Given the description of an element on the screen output the (x, y) to click on. 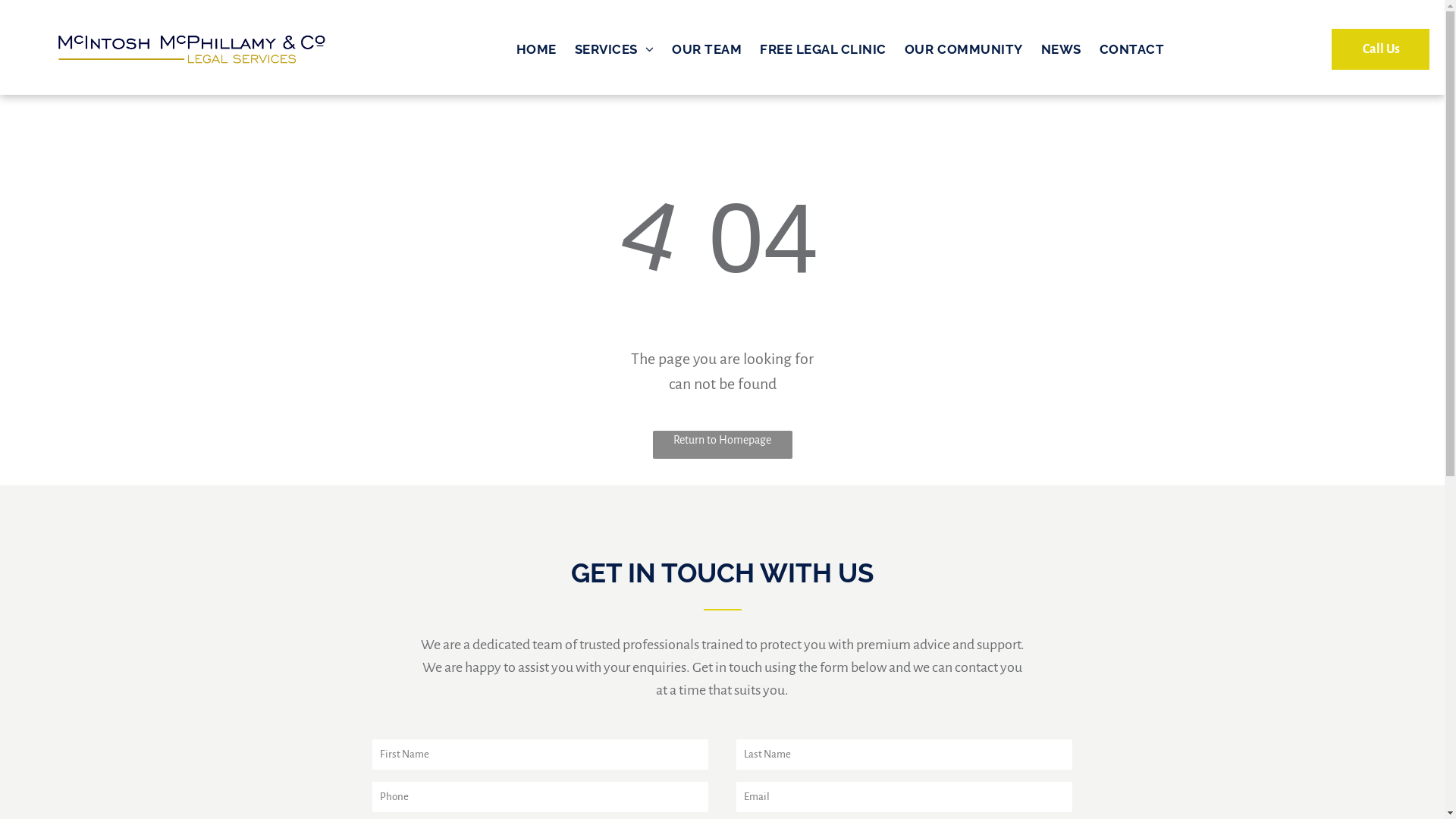
HOME Element type: text (536, 49)
Return to Homepage Element type: text (721, 444)
FREE LEGAL CLINIC Element type: text (822, 49)
CONTACT Element type: text (1131, 49)
OUR COMMUNITY Element type: text (963, 49)
OUR TEAM Element type: text (706, 49)
SERVICES Element type: text (614, 49)
Call Us Element type: text (1380, 48)
NEWS Element type: text (1061, 49)
